Given the description of an element on the screen output the (x, y) to click on. 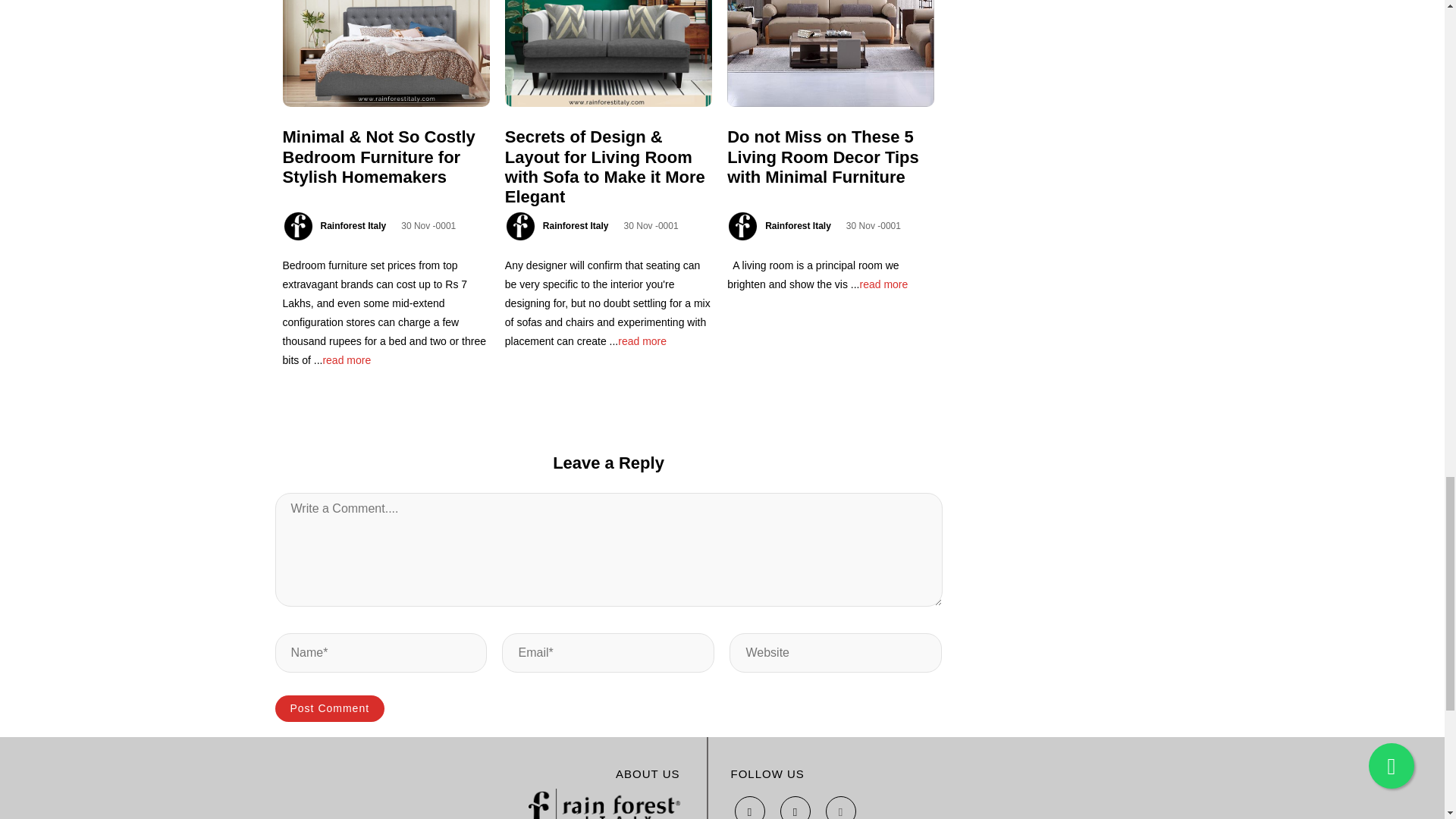
Post Comment (329, 708)
Your Store (603, 803)
